Given the description of an element on the screen output the (x, y) to click on. 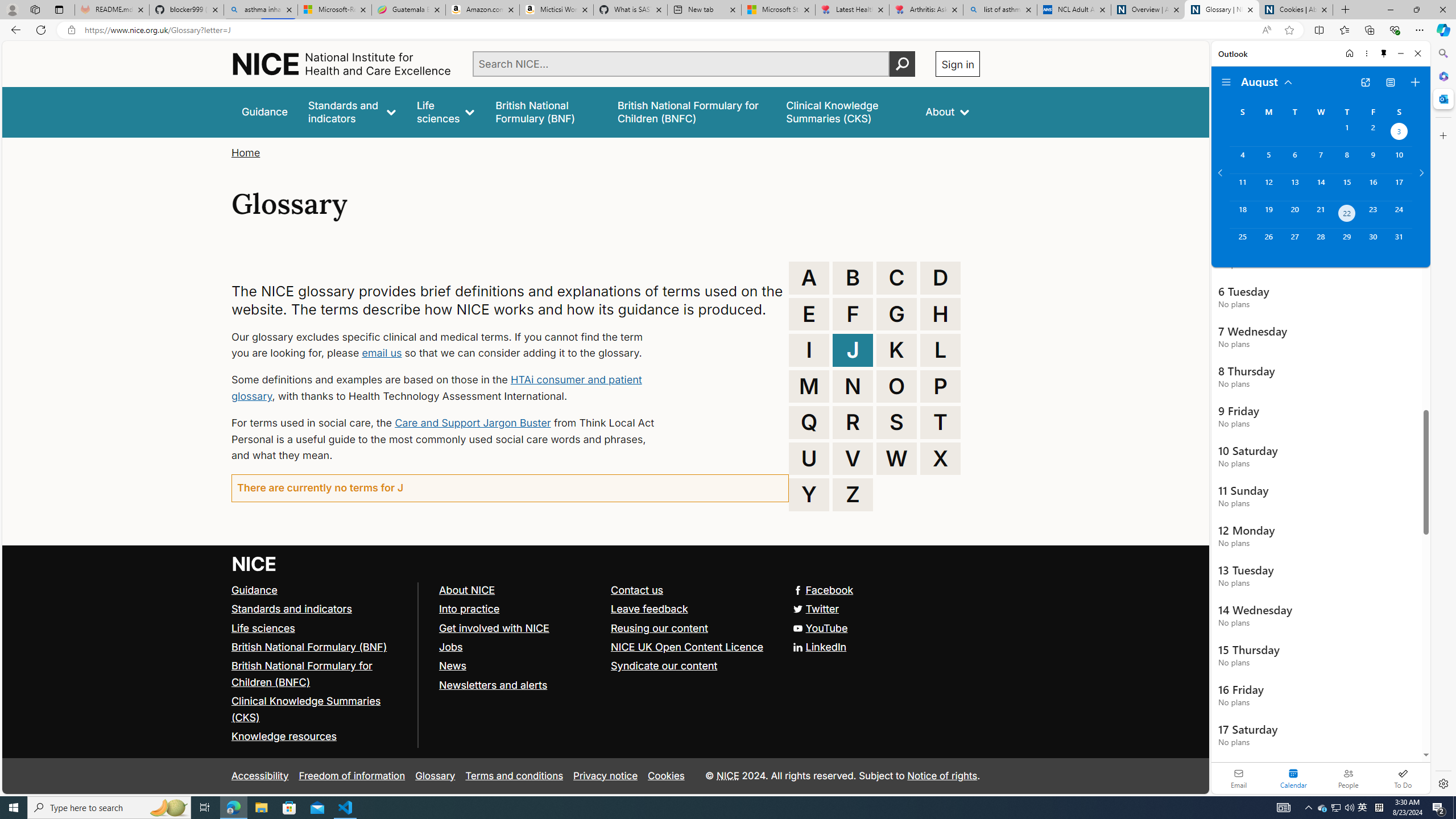
S (896, 422)
Friday, August 16, 2024.  (1372, 186)
Saturday, August 17, 2024.  (1399, 186)
Tuesday, August 20, 2024.  (1294, 214)
Tuesday, August 27, 2024.  (1294, 241)
R (852, 422)
Saturday, August 3, 2024. Date selected.  (1399, 132)
About (947, 111)
F (852, 313)
Twitter (605, 609)
About (947, 111)
